Given the description of an element on the screen output the (x, y) to click on. 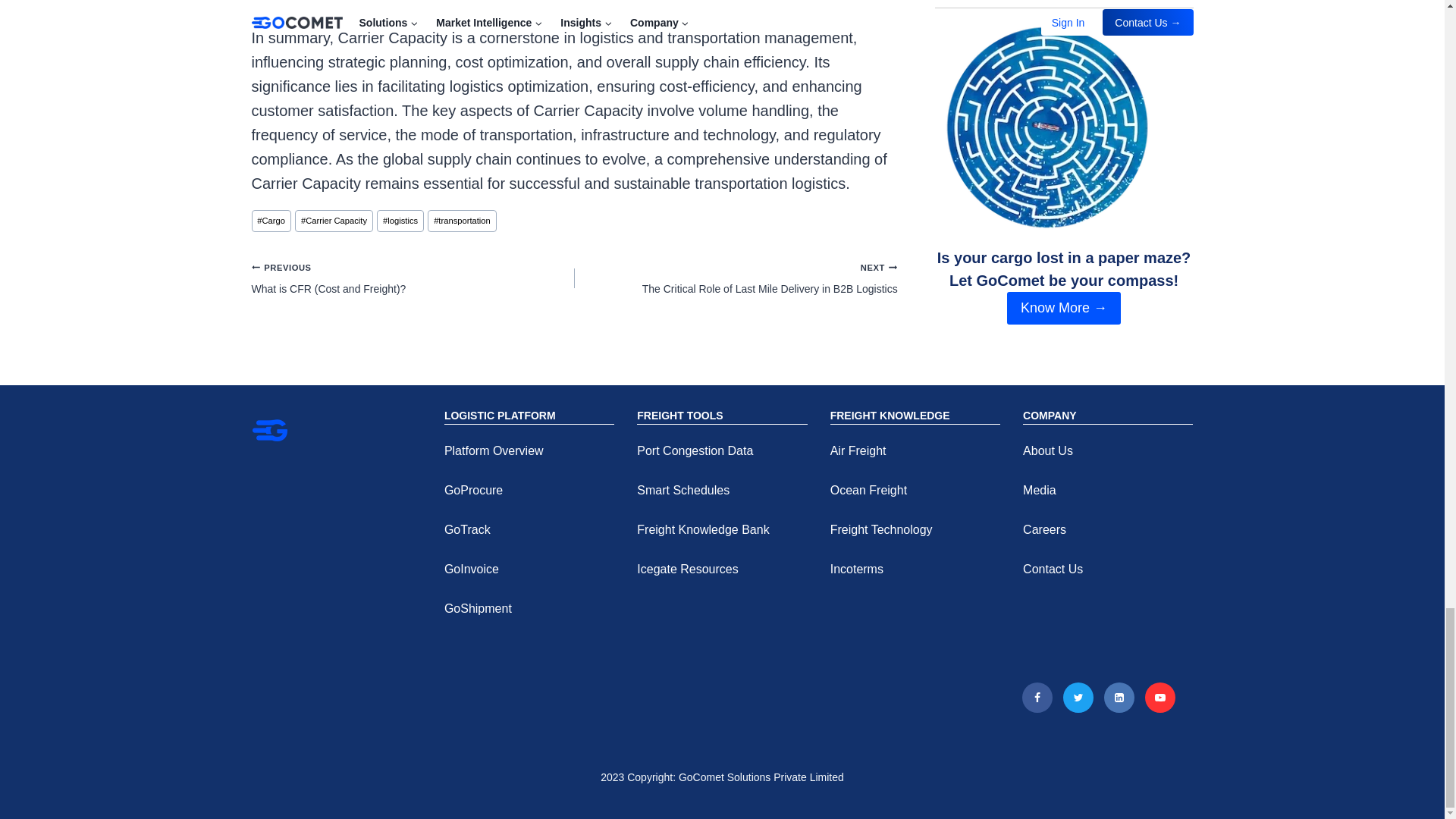
Cargo (271, 220)
logistics (400, 220)
transportation (462, 220)
Carrier Capacity (333, 220)
